Given the description of an element on the screen output the (x, y) to click on. 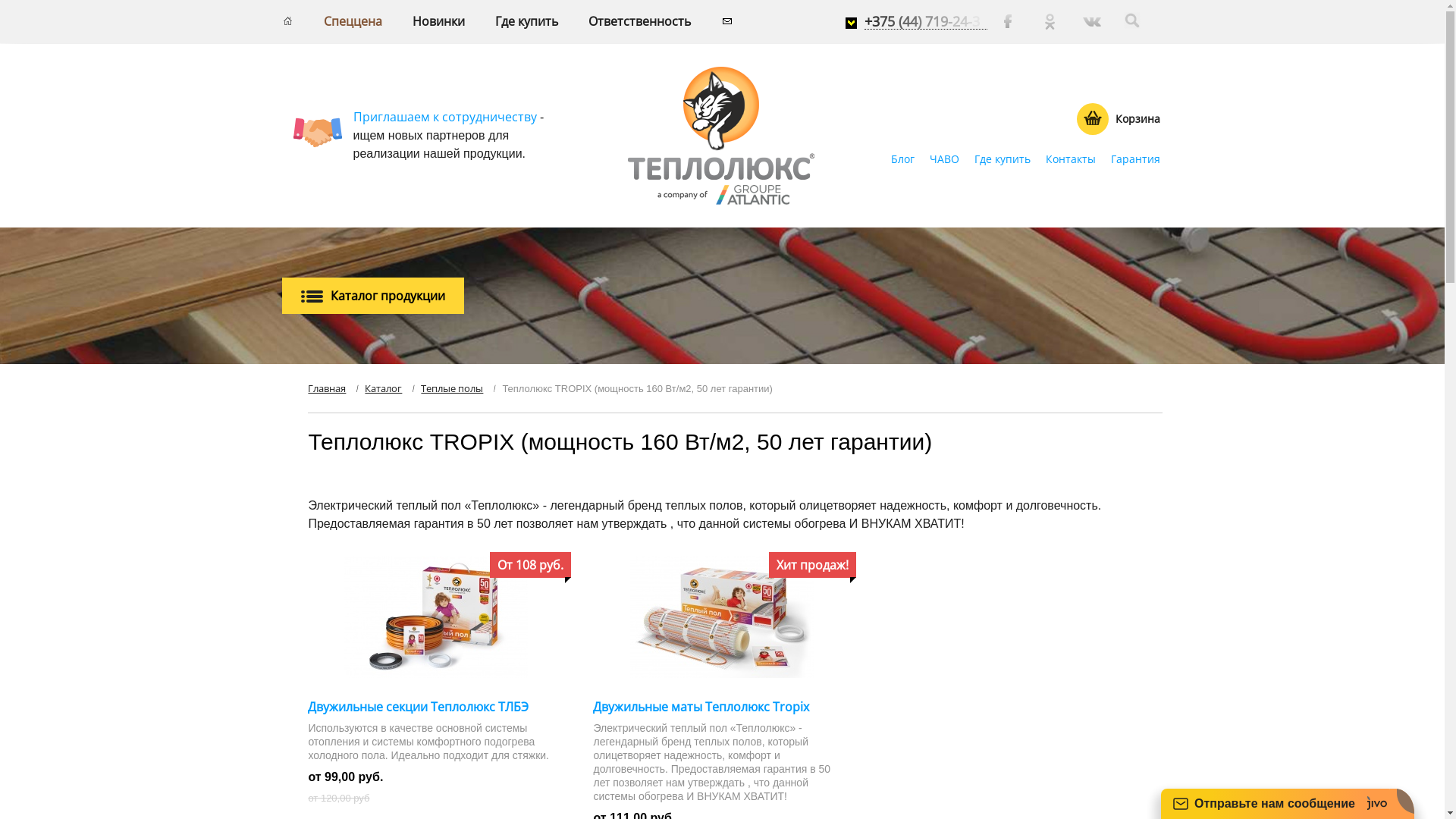
+375 (44) 719-24-3 Element type: text (925, 21)
